Given the description of an element on the screen output the (x, y) to click on. 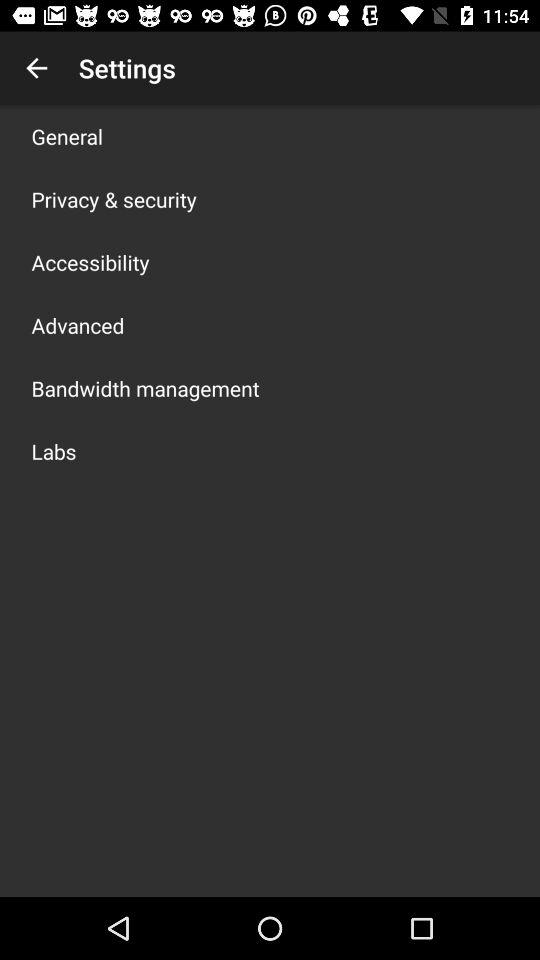
click icon to the left of the settings item (36, 68)
